Given the description of an element on the screen output the (x, y) to click on. 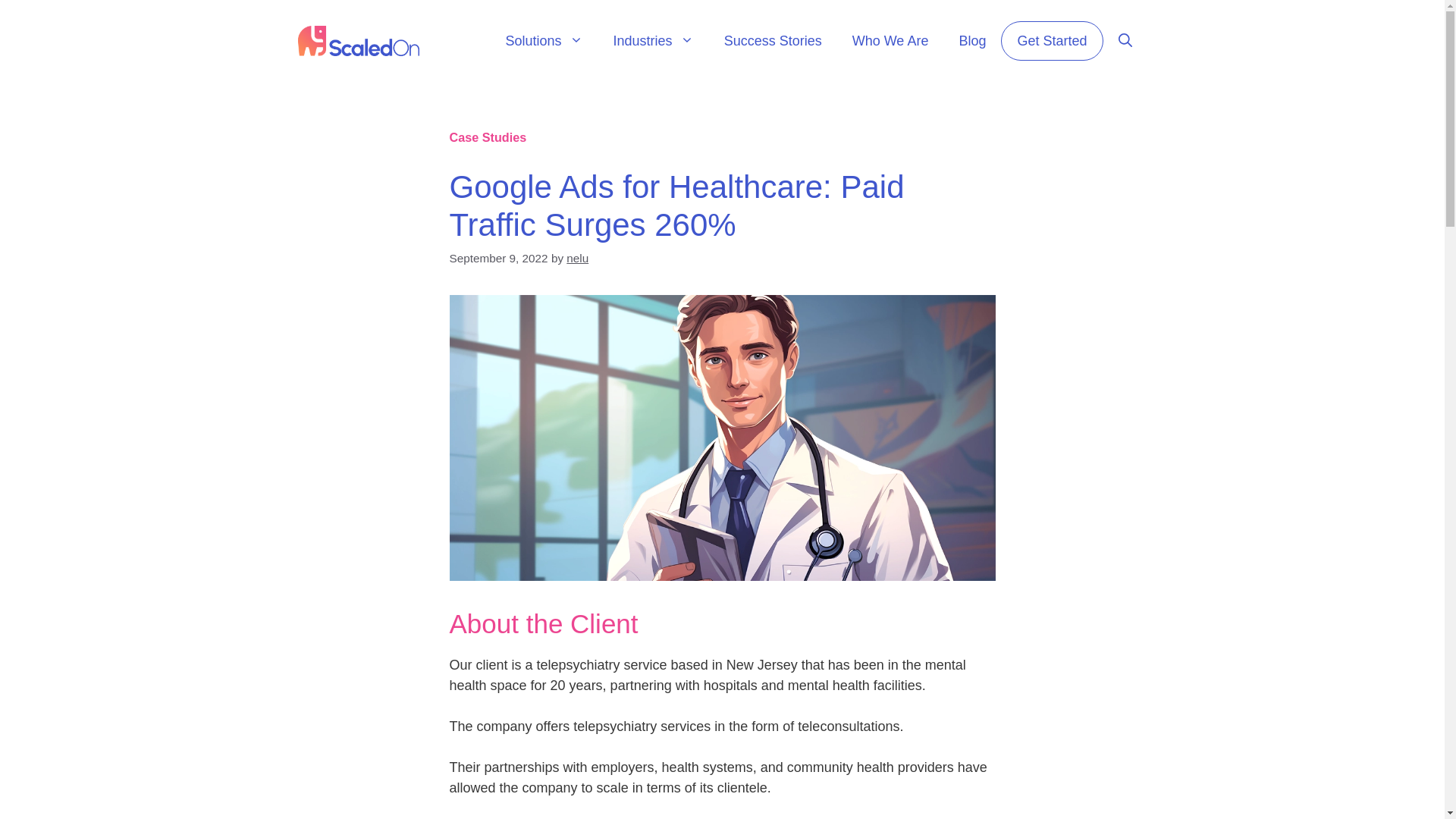
Get Started (1051, 40)
Who We Are (890, 40)
Success Stories (773, 40)
Solutions (544, 40)
Industries (653, 40)
View all posts by nelu (577, 257)
Blog (972, 40)
nelu (577, 257)
